Given the description of an element on the screen output the (x, y) to click on. 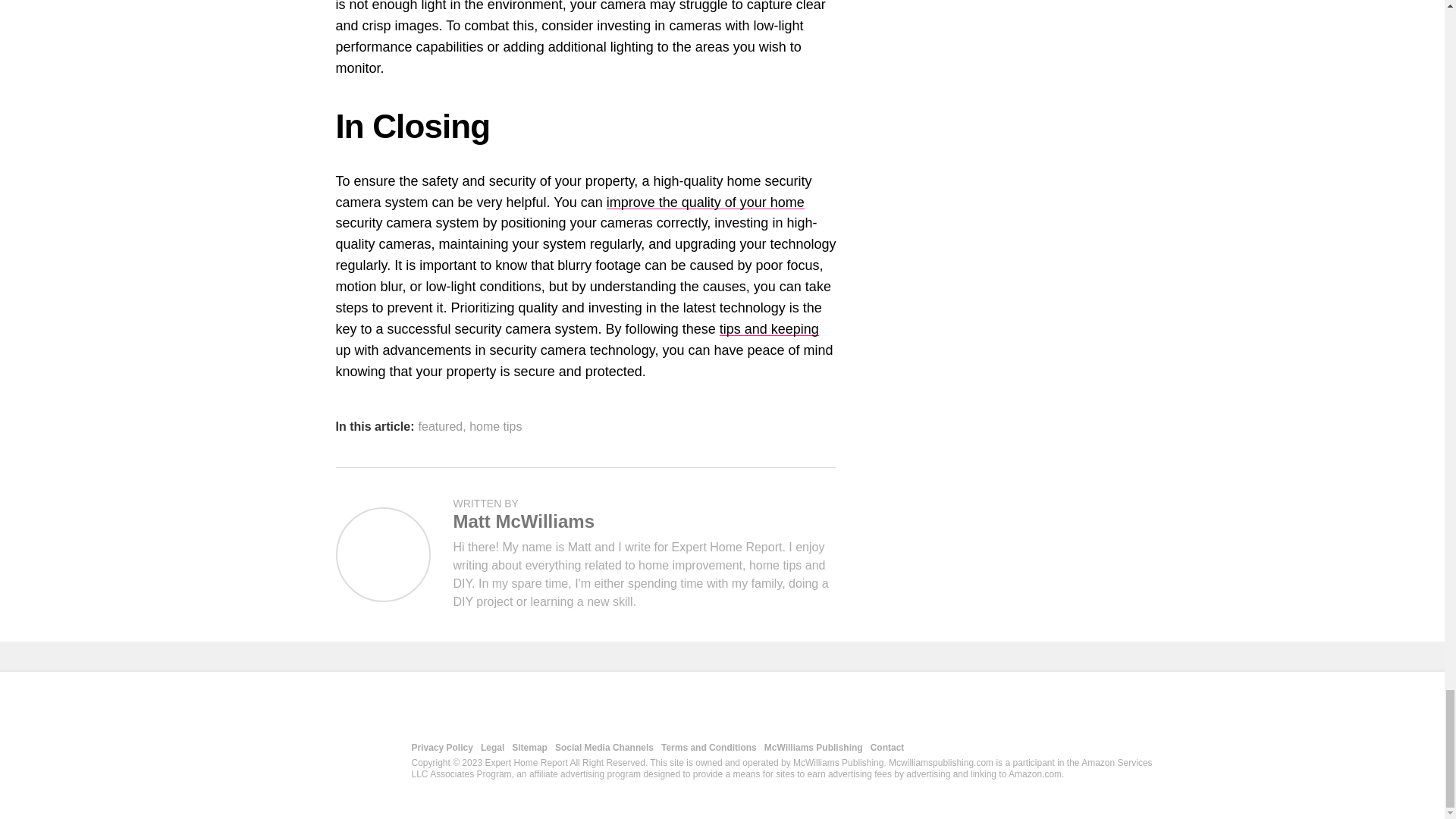
Posts by Matt McWilliams (523, 521)
